Given the description of an element on the screen output the (x, y) to click on. 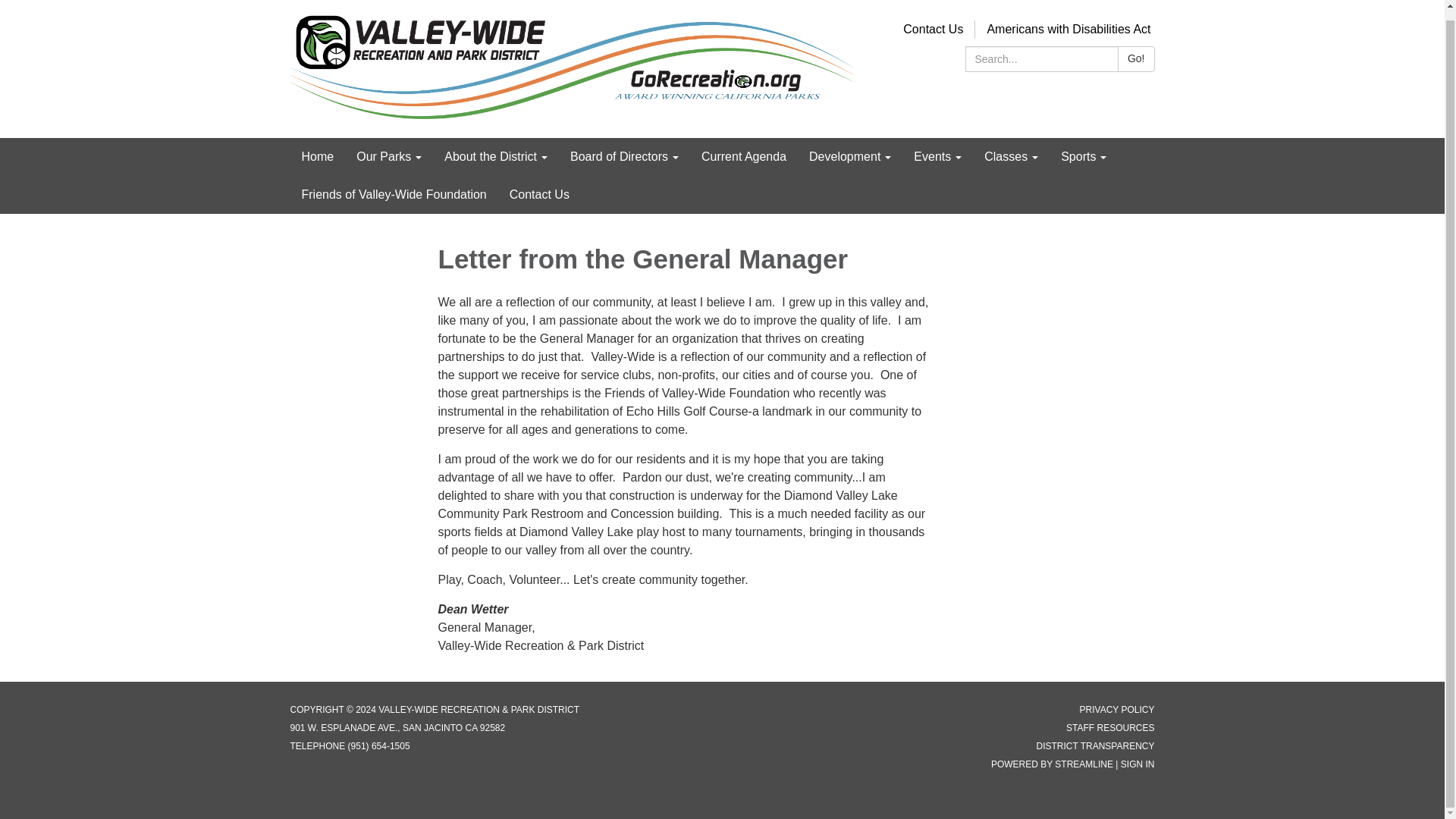
Special District Transparency Report (1094, 746)
Go! (1136, 58)
Streamline: Technology for Special Districts (1083, 764)
Americans with Disabilities Act (1068, 29)
Home (317, 157)
Our Parks (388, 157)
Contact Us (932, 29)
